Given the description of an element on the screen output the (x, y) to click on. 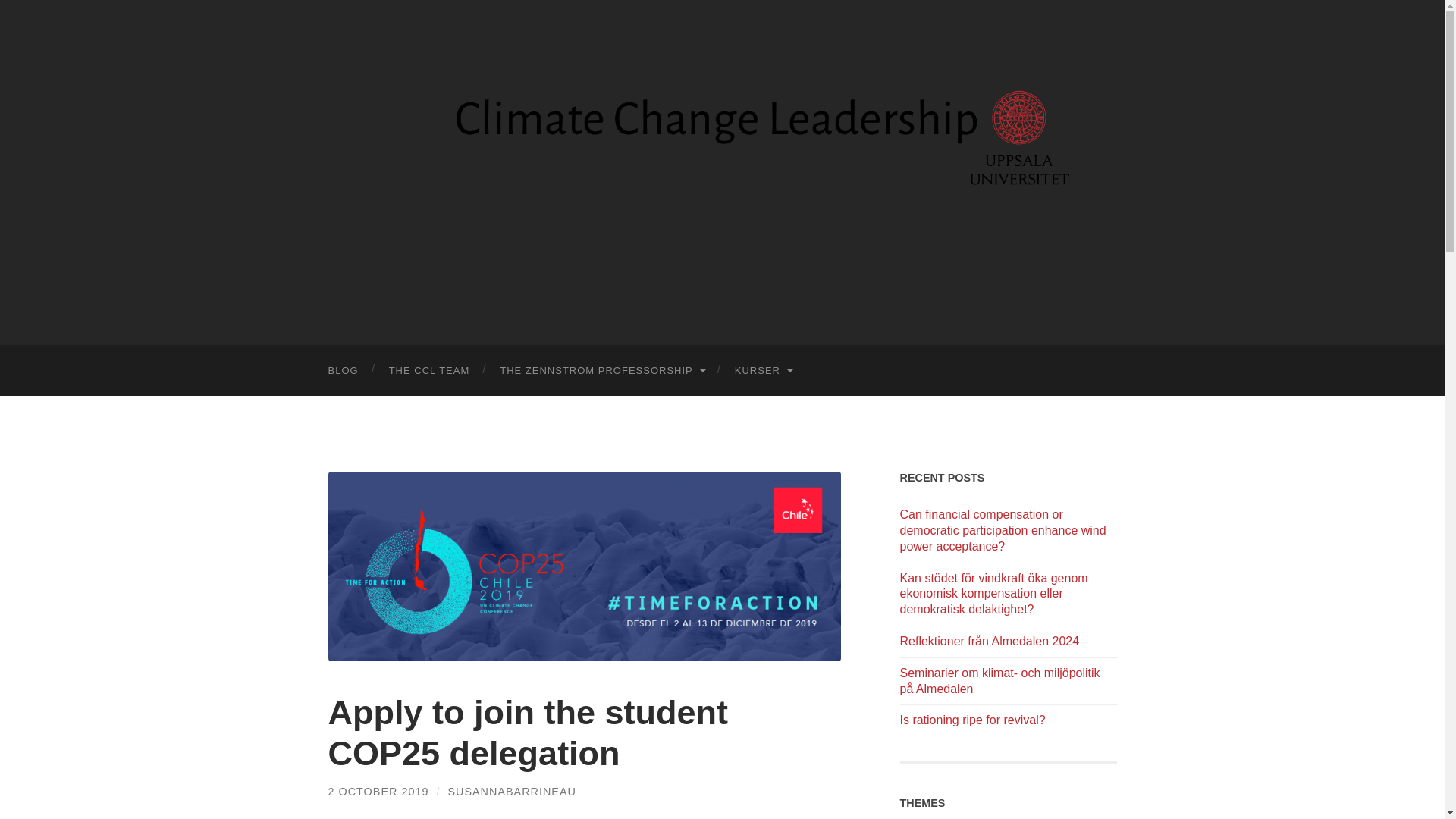
KURSER (762, 369)
THE CCL TEAM (429, 369)
Posts by susannabarrineau (511, 791)
SUSANNABARRINEAU (511, 791)
Climate Change Leadership (722, 170)
2 OCTOBER 2019 (377, 791)
BLOG (342, 369)
